Given the description of an element on the screen output the (x, y) to click on. 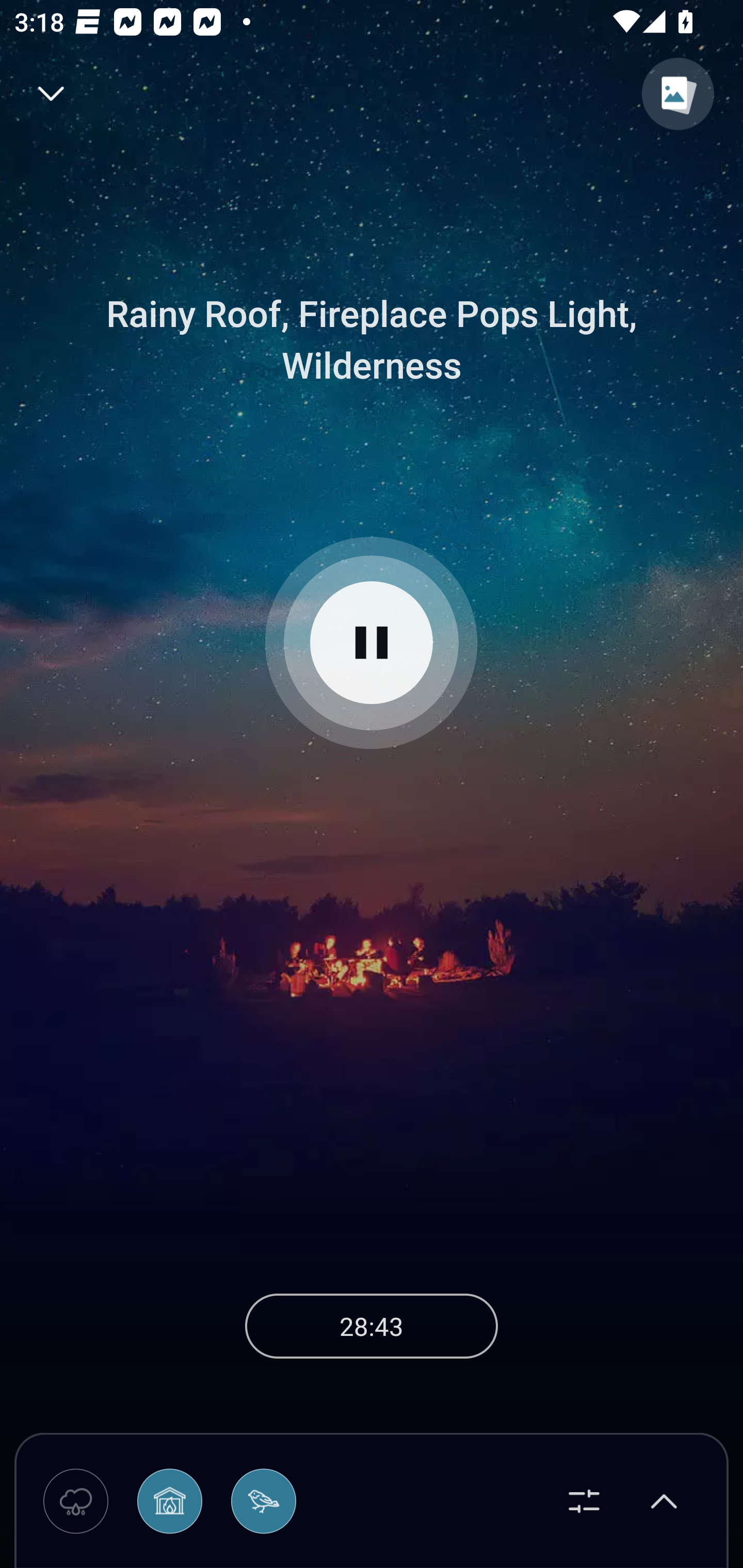
28:43 (371, 1325)
